Given the description of an element on the screen output the (x, y) to click on. 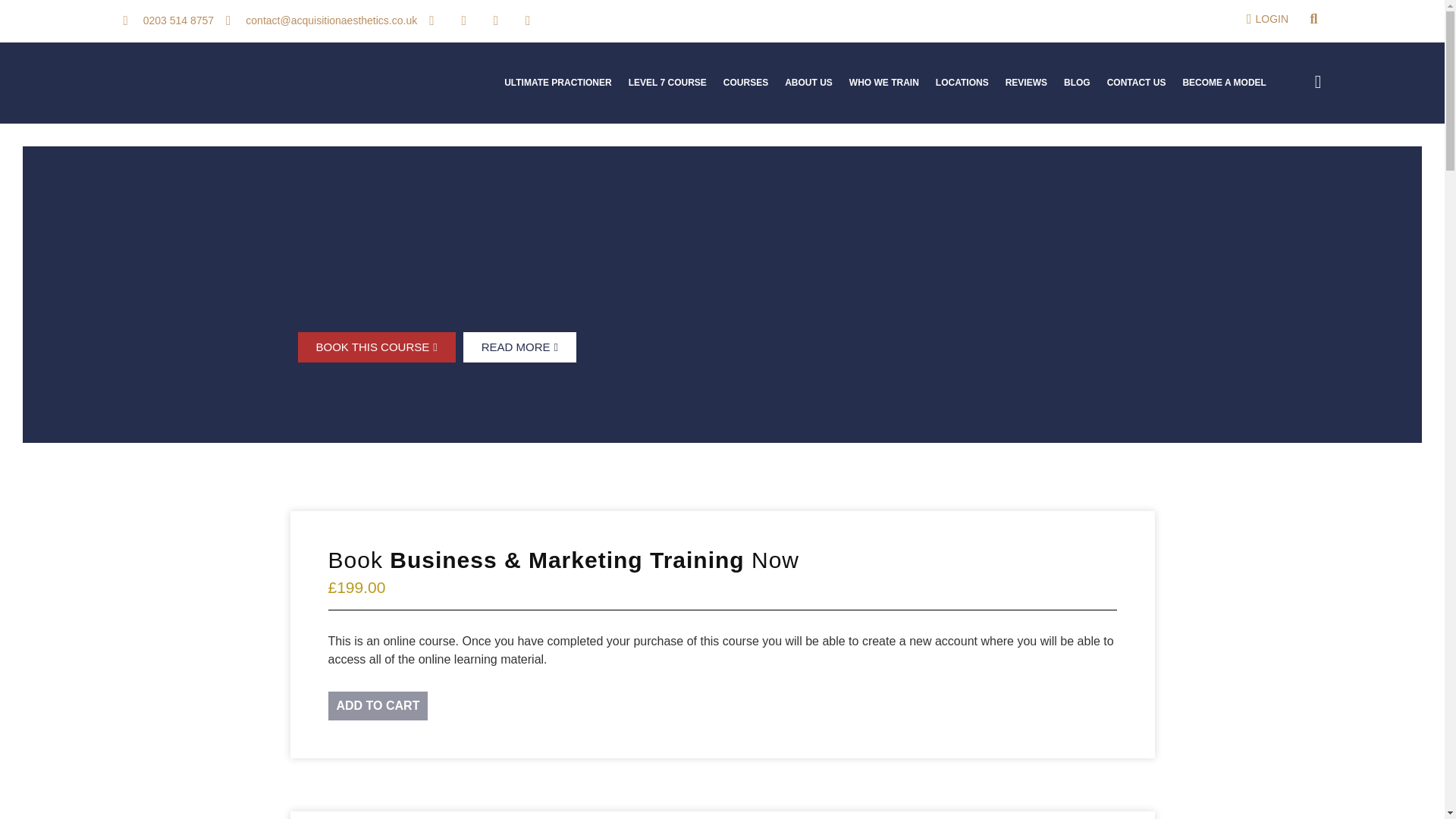
ULTIMATE PRACTIONER (558, 82)
LOGIN (1261, 19)
COURSES (745, 82)
LEVEL 7 COURSE (667, 82)
0203 514 8757 (168, 20)
